Given the description of an element on the screen output the (x, y) to click on. 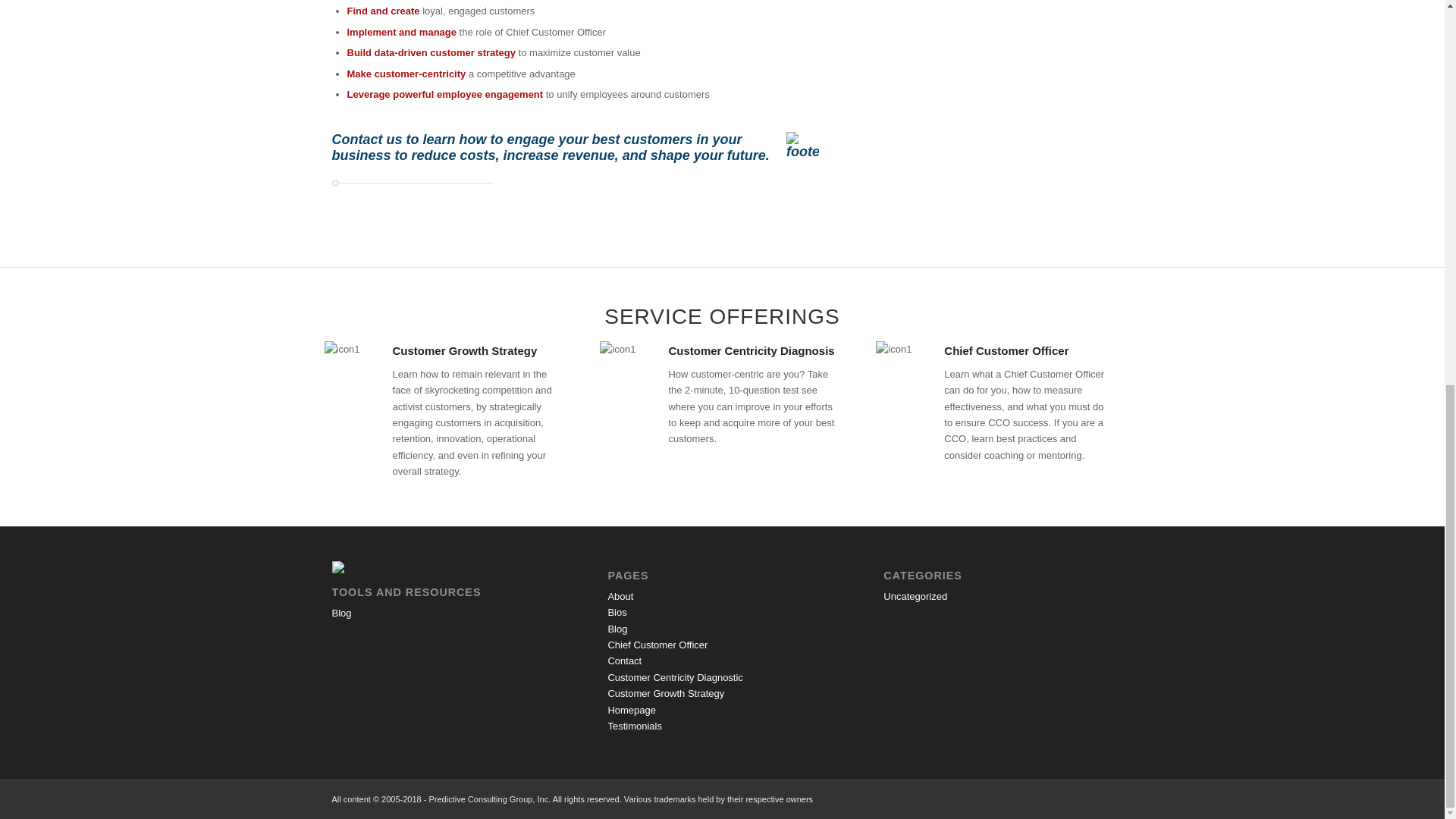
Bios (616, 612)
Contact (624, 660)
About (620, 595)
Uncategorized (915, 595)
Blog (341, 613)
Homepage (631, 709)
Customer Growth Strategy (665, 693)
Blog (617, 627)
Customer Centricity Diagnostic (674, 677)
Testimonials (634, 726)
